Given the description of an element on the screen output the (x, y) to click on. 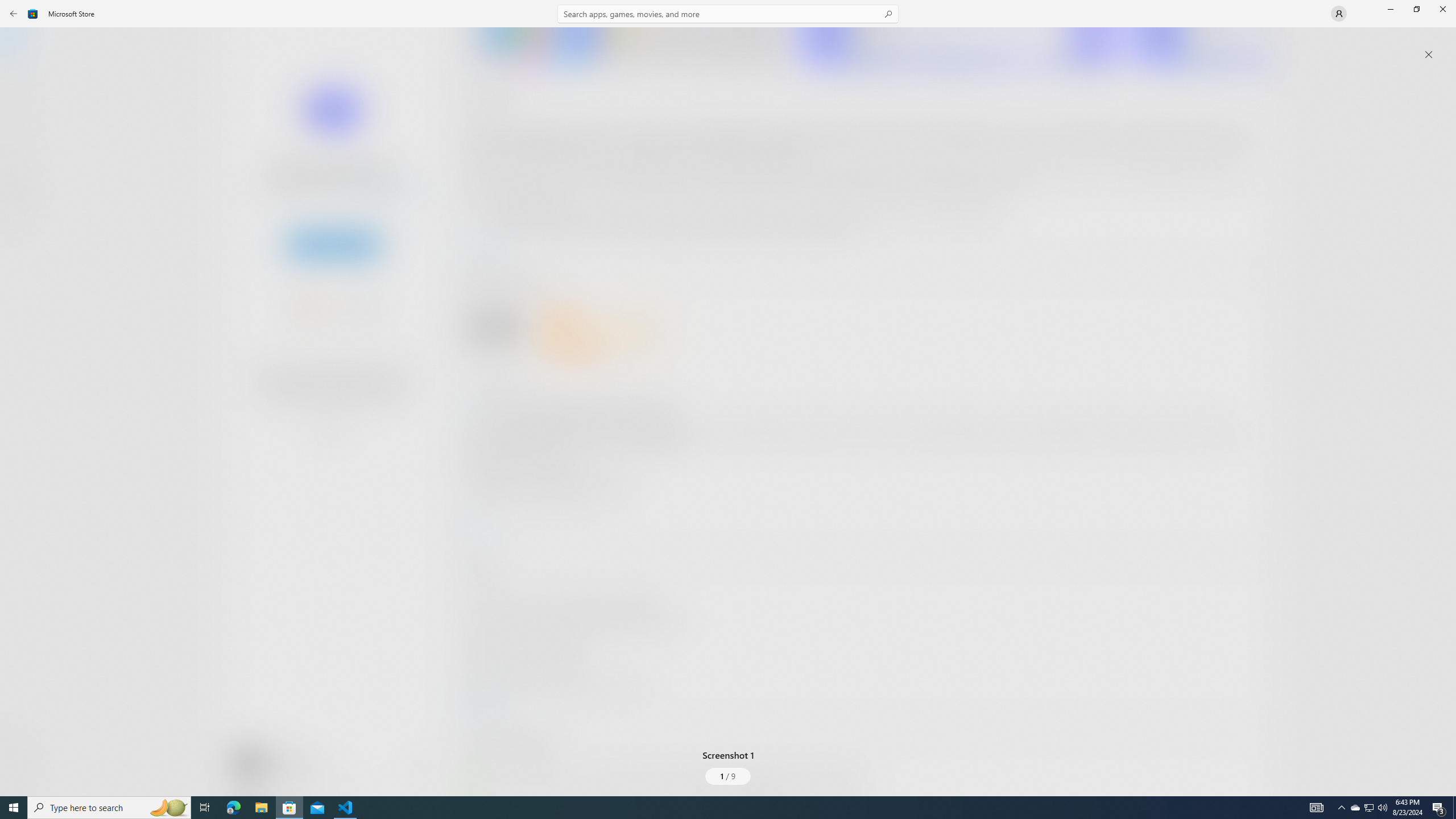
Sign in to review (501, 379)
Screenshot 2 (959, 46)
AI Hub (20, 221)
Library (20, 773)
Screenshot 3 (1201, 46)
Restore Microsoft Store (1416, 9)
Age rating: EVERYONE. Click for more information. (287, 762)
Show more (485, 793)
AutomationID: NavigationControl (728, 398)
Show all ratings and reviews (477, 527)
Class: Image (32, 13)
Microsoft Corporation (383, 189)
Apps (20, 80)
Install (334, 244)
Search (727, 13)
